Given the description of an element on the screen output the (x, y) to click on. 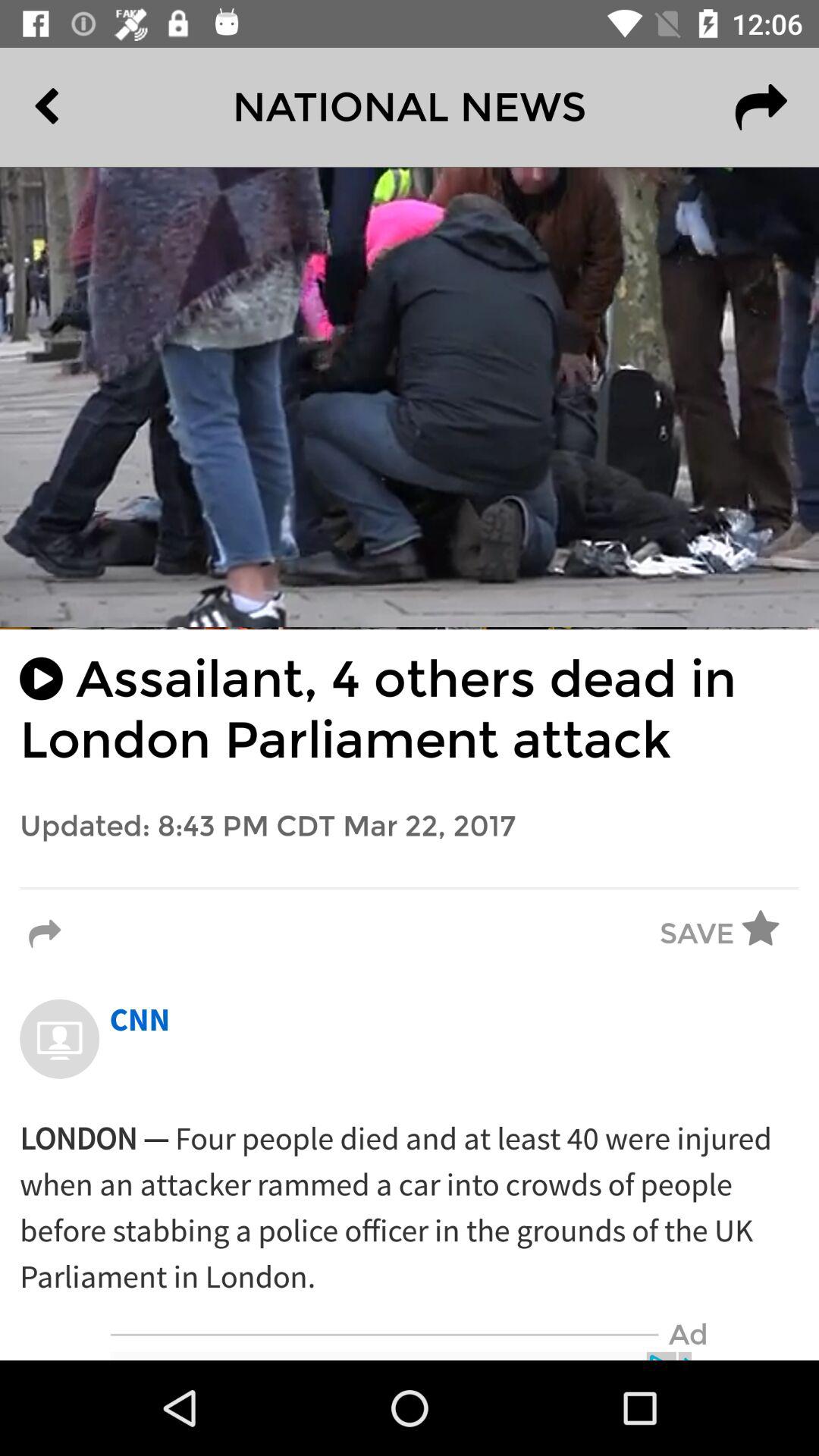
press the item to the left of the national news item (81, 107)
